Given the description of an element on the screen output the (x, y) to click on. 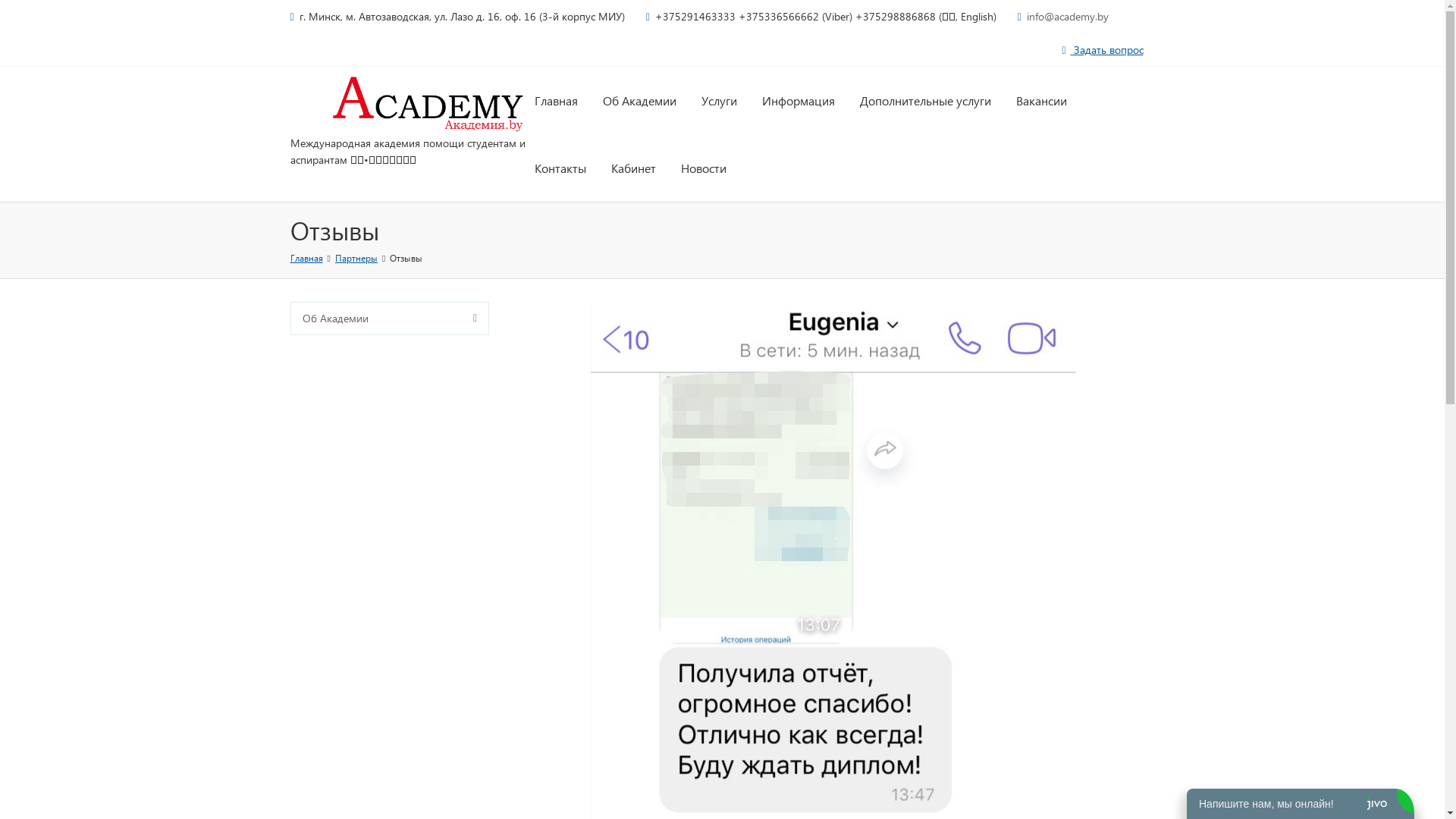
info@academy.by Element type: text (1067, 16)
